Given the description of an element on the screen output the (x, y) to click on. 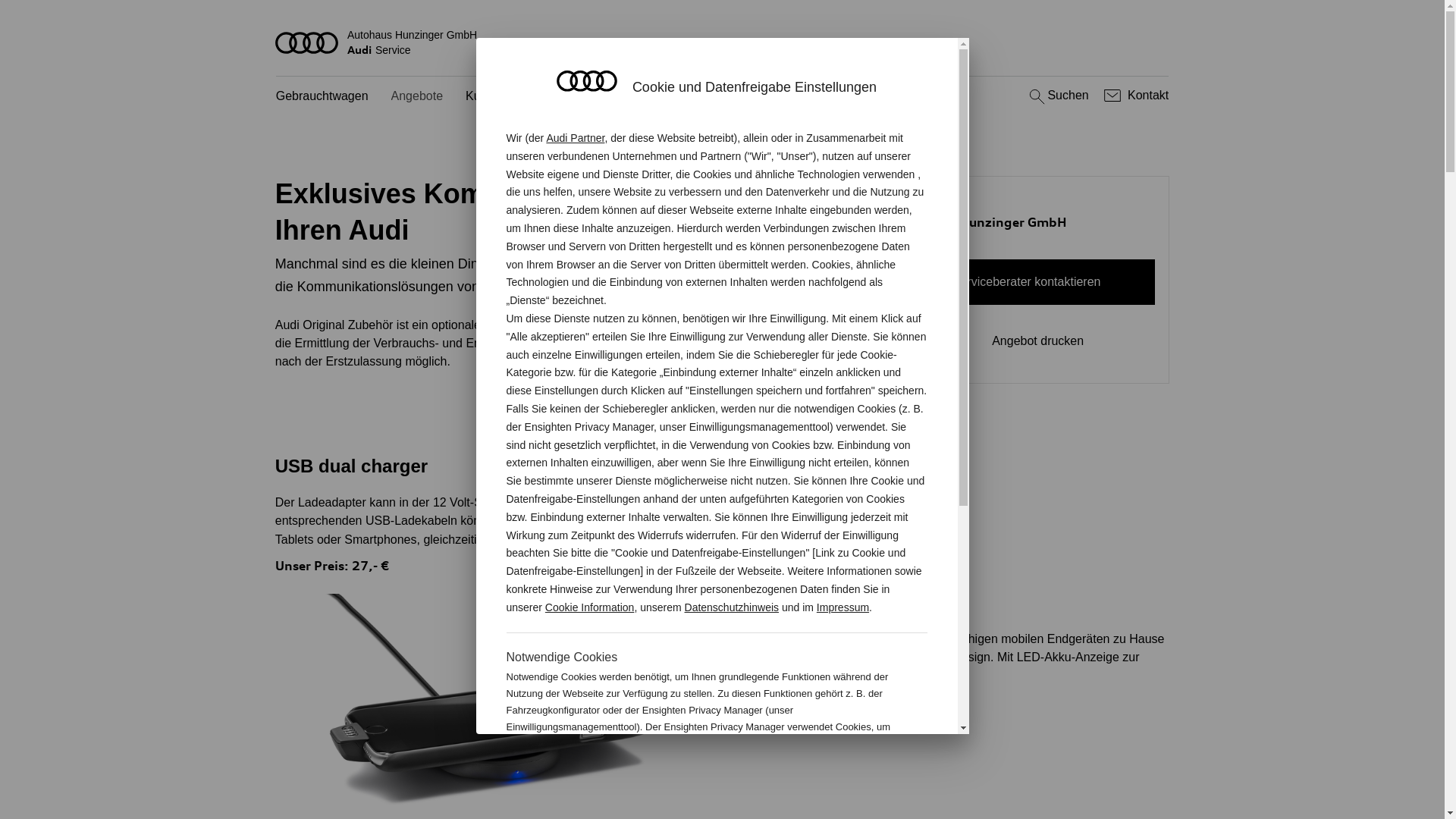
Autohaus Hunzinger GmbH
AudiService Element type: text (722, 42)
Kontakt Element type: text (1134, 95)
Serviceberater kontaktieren Element type: text (1025, 281)
Kundenservice Element type: text (505, 96)
Impressum Element type: text (842, 607)
Angebote Element type: text (417, 96)
Gebrauchtwagen Element type: text (322, 96)
Cookie Information Element type: text (589, 607)
Cookie Information Element type: text (847, 776)
Audi Partner Element type: text (575, 137)
Angebot drucken Element type: text (1026, 341)
Suchen Element type: text (1056, 95)
Datenschutzhinweis Element type: text (731, 607)
